Given the description of an element on the screen output the (x, y) to click on. 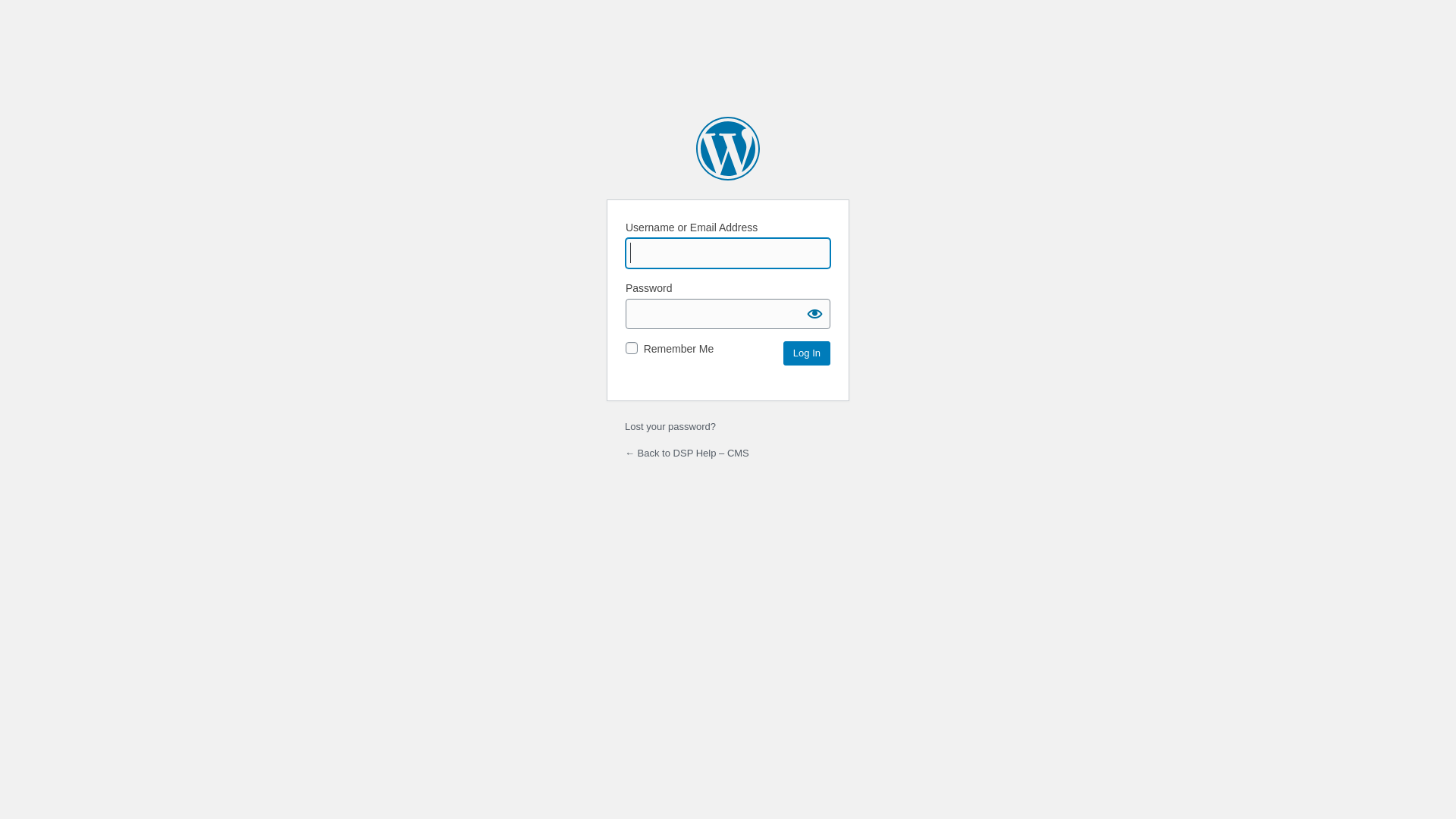
Log In Element type: text (806, 353)
Powered by WordPress Element type: text (727, 148)
Lost your password? Element type: text (669, 426)
